Given the description of an element on the screen output the (x, y) to click on. 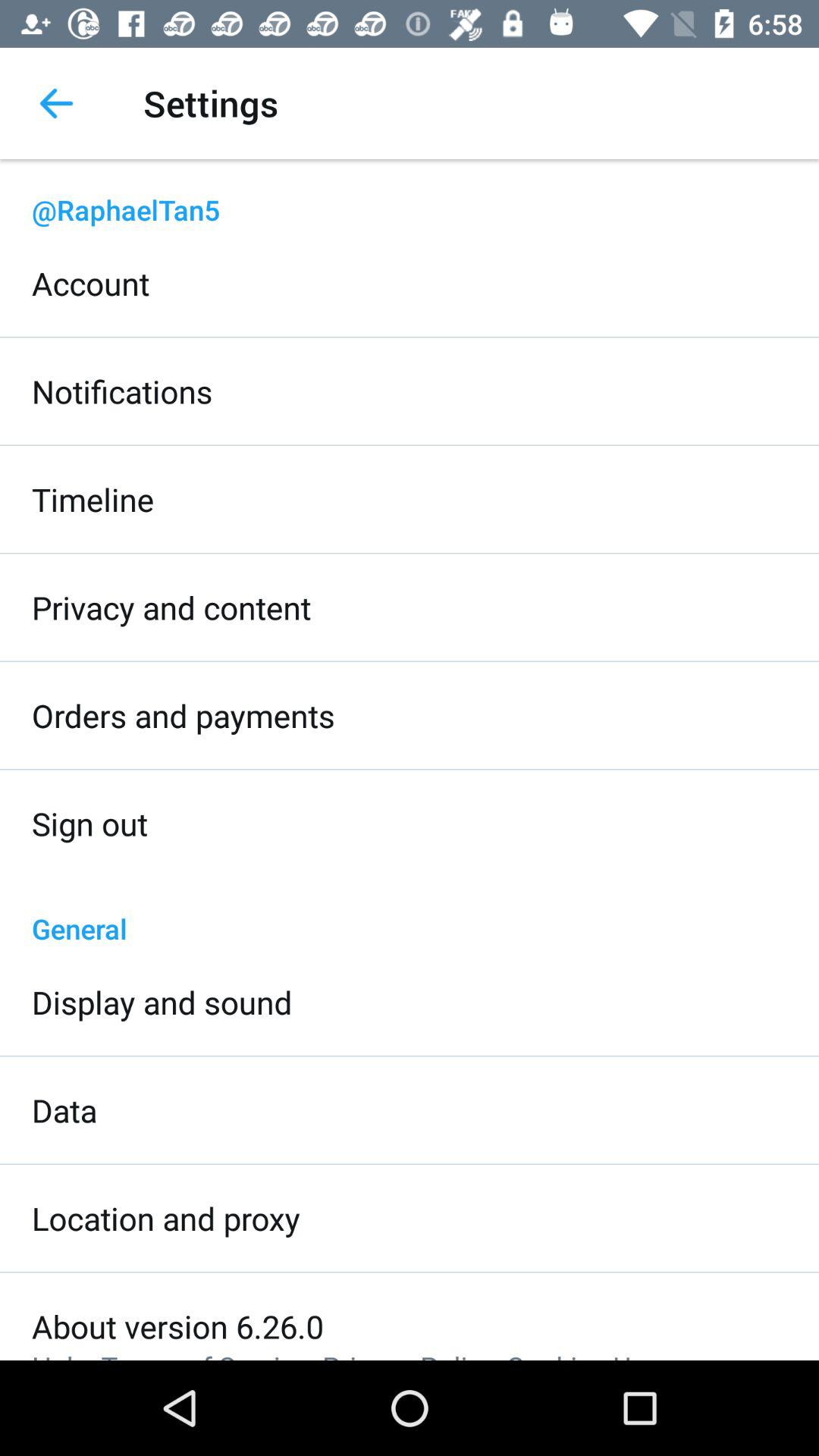
launch the item above privacy and content (92, 498)
